Given the description of an element on the screen output the (x, y) to click on. 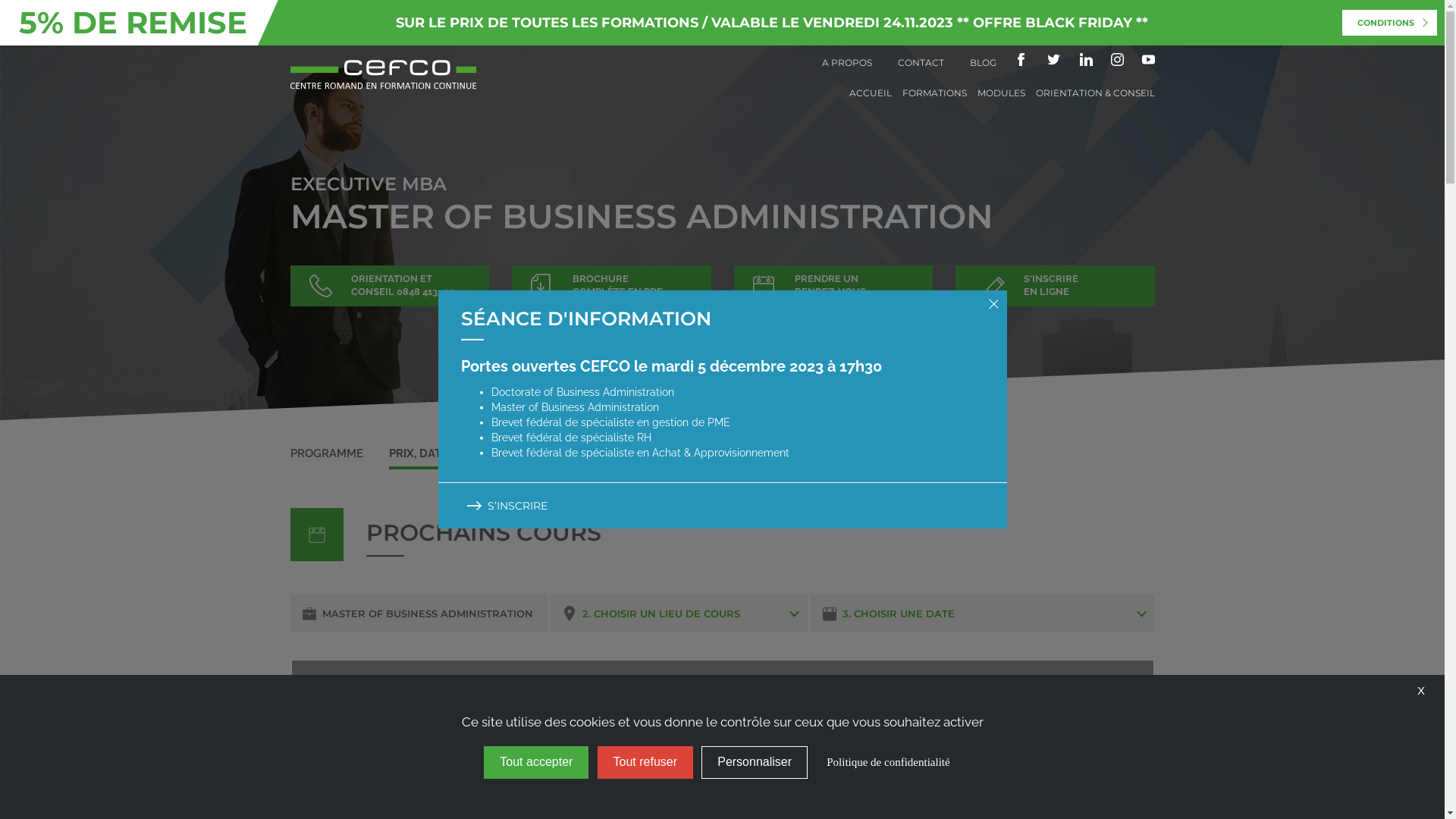
ACCUEIL Element type: text (870, 92)
PRIX, DATES & LIEUX Element type: text (446, 453)
ORIENTATION ET
CONSEIL 0848 413 413 Element type: text (389, 285)
FORMATIONS Element type: text (934, 92)
S'INSCRIRE
EN LIGNE Element type: text (1054, 285)
Tout accepter Element type: text (535, 762)
A PROPOS Element type: text (847, 62)
CONDITIONS Element type: text (1389, 22)
Personnaliser Element type: text (754, 762)
MODULES Element type: text (1000, 92)
BLOG Element type: text (982, 62)
PROGRAMME Element type: text (327, 453)
ORIENTATION & CONSEIL Element type: text (1094, 92)
CONTACT Element type: text (920, 62)
Accueil Element type: hover (382, 64)
FORMATEURS Element type: text (566, 453)
PRENDRE UN
RENDEZ-VOUS Element type: text (833, 285)
Tout refuser Element type: text (645, 762)
